Given the description of an element on the screen output the (x, y) to click on. 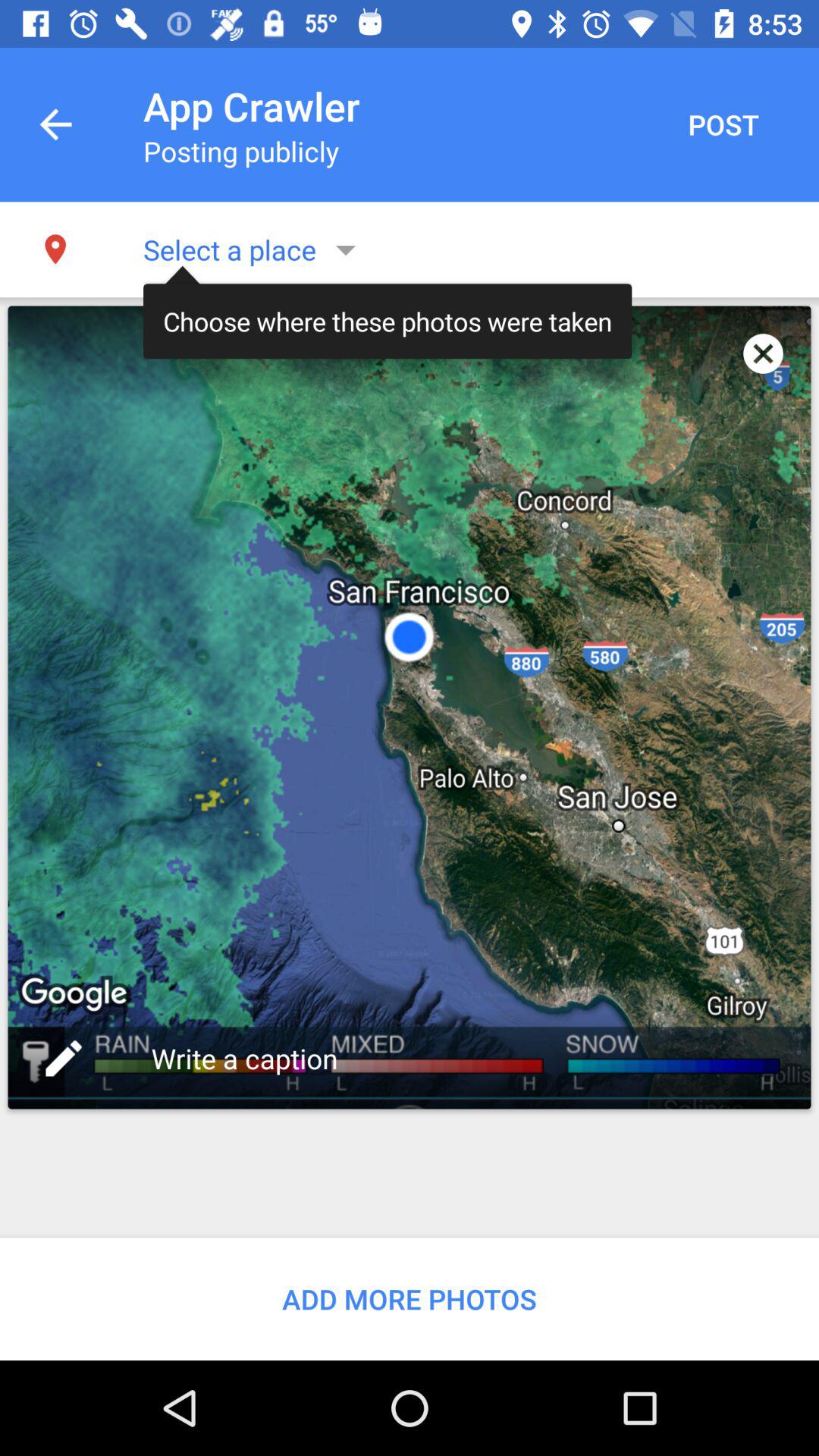
turn off app to the right of the choose where these app (763, 353)
